Given the description of an element on the screen output the (x, y) to click on. 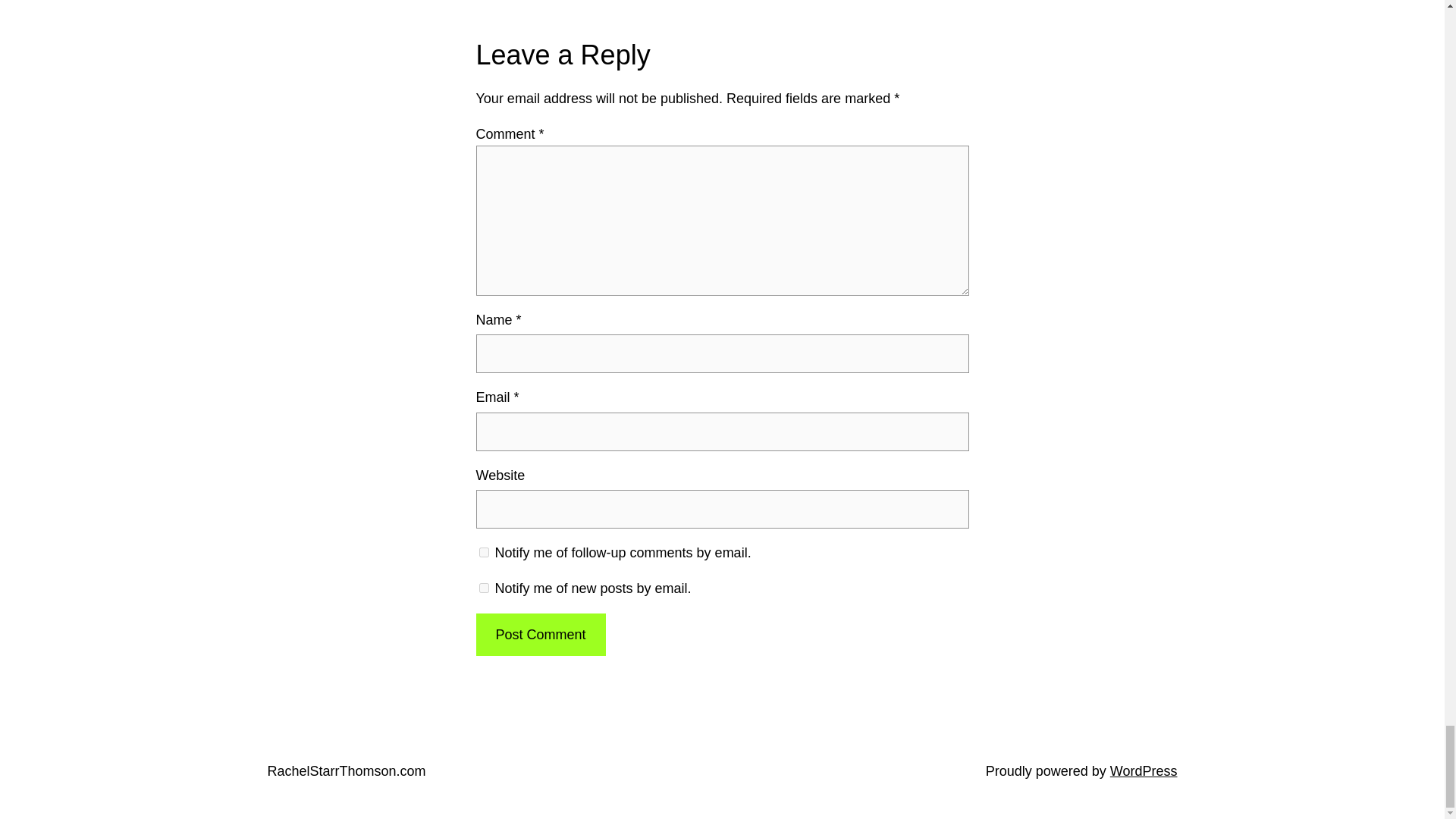
Post Comment (540, 634)
subscribe (484, 587)
subscribe (484, 552)
WordPress (1143, 770)
RachelStarrThomson.com (345, 770)
Post Comment (540, 634)
